Given the description of an element on the screen output the (x, y) to click on. 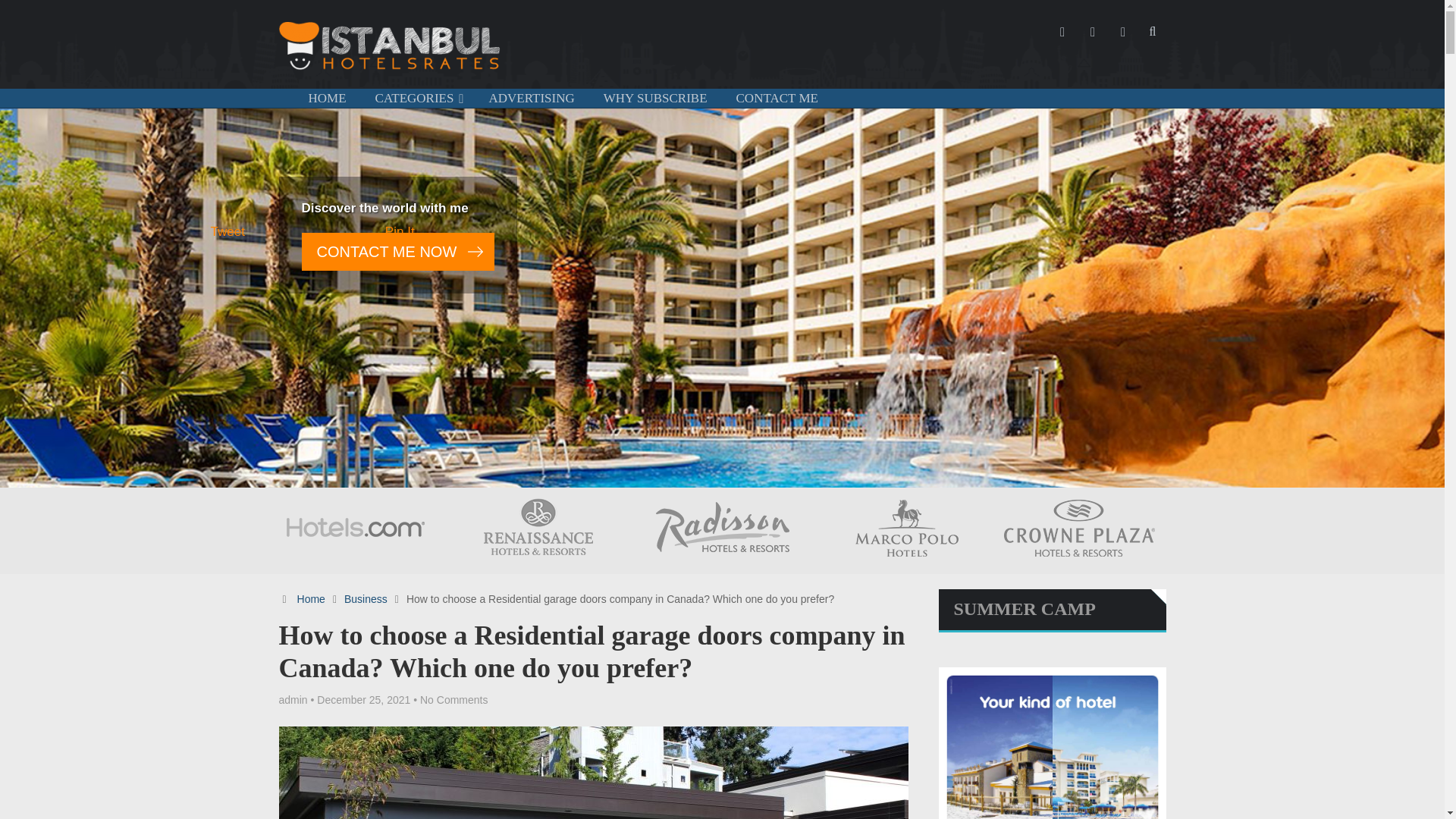
No Comments (453, 699)
admin (293, 699)
Posts by admin (293, 699)
ADVERTISING (531, 98)
CONTACT ME NOW (398, 251)
Pin It (399, 231)
CONTACT ME (777, 98)
Home (310, 598)
WHY SUBSCRIBE (655, 98)
HOME (327, 98)
